Given the description of an element on the screen output the (x, y) to click on. 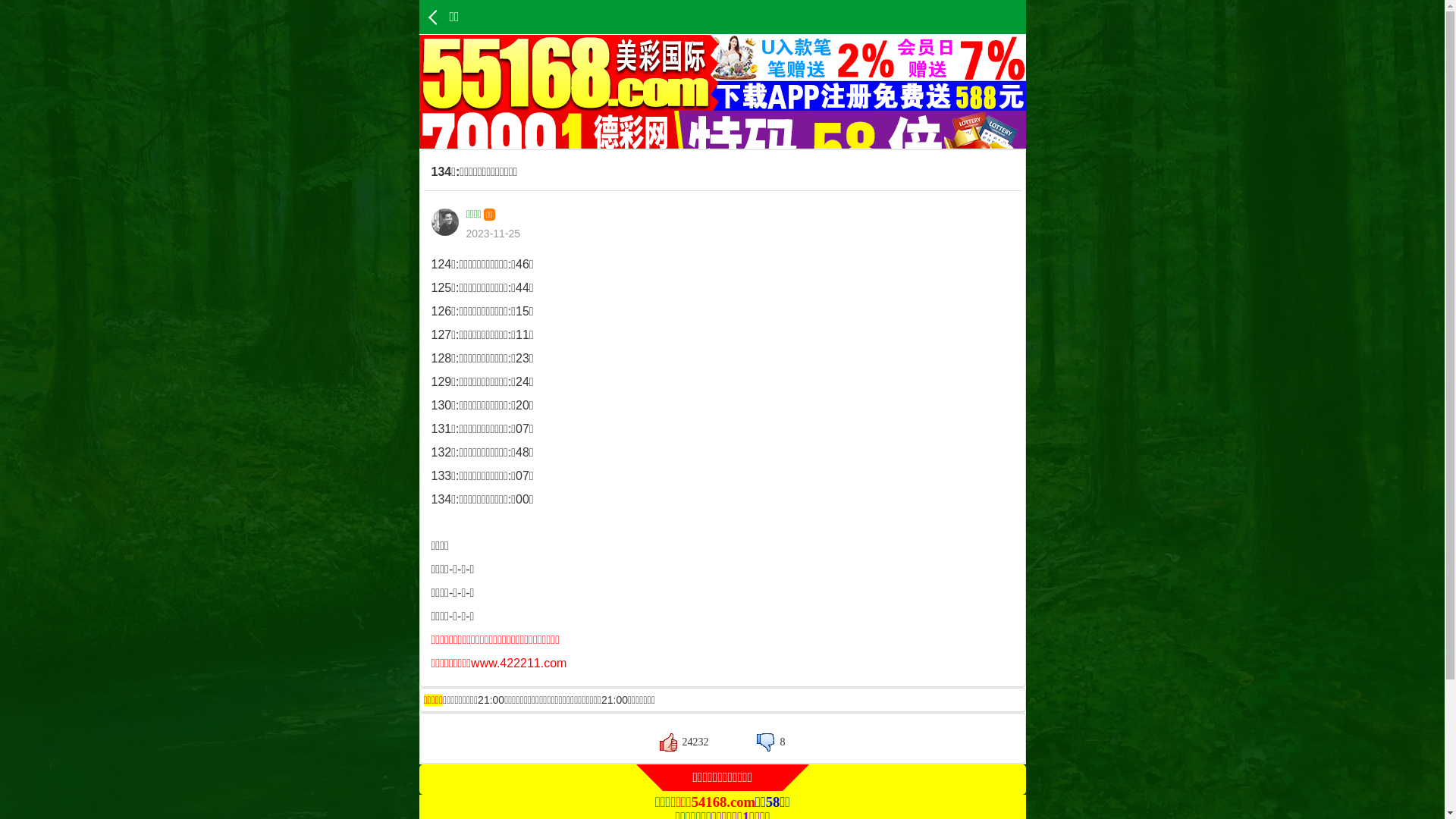
24232 Element type: text (684, 741)
8 Element type: text (770, 741)
